Given the description of an element on the screen output the (x, y) to click on. 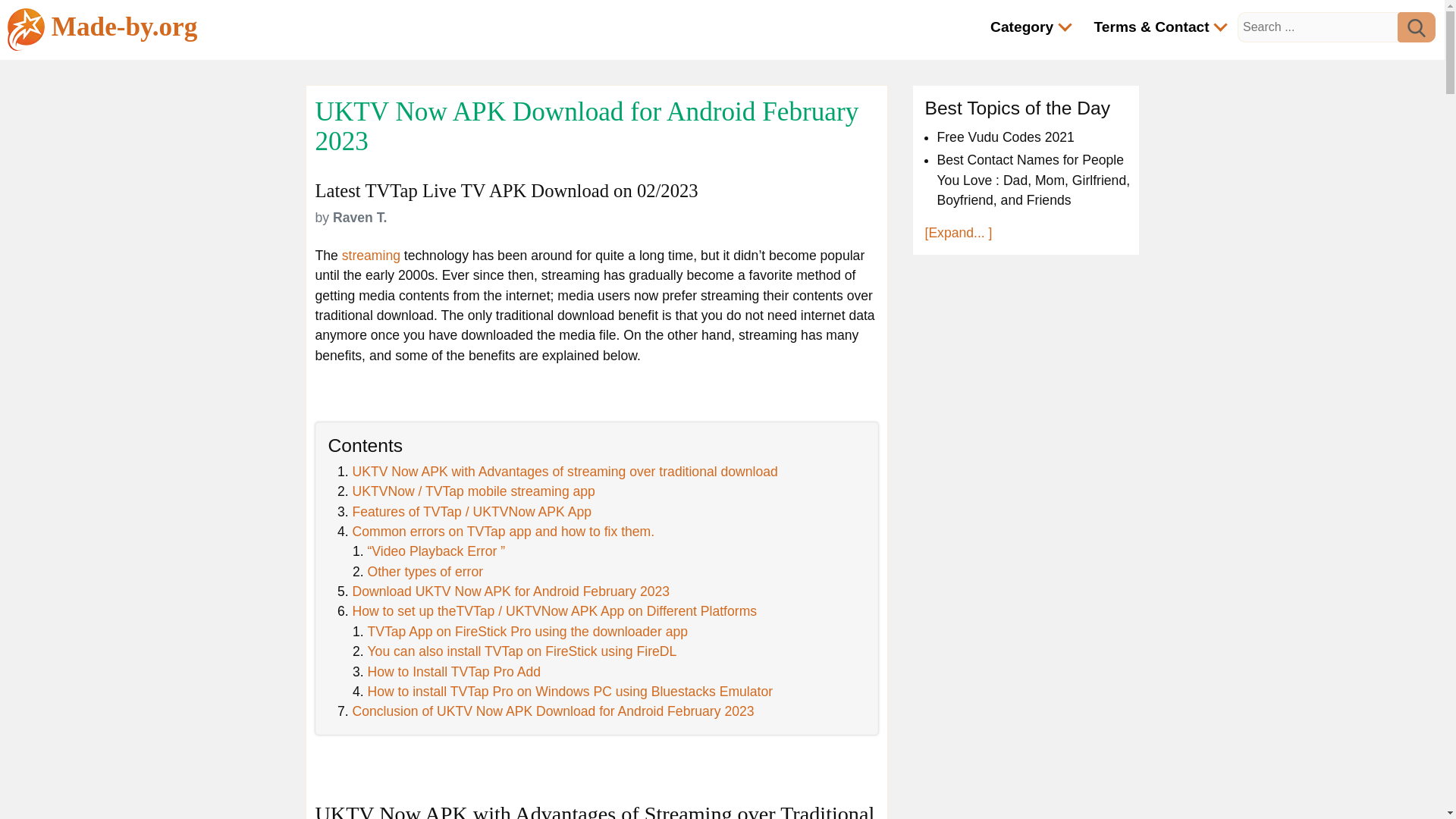
streaming (371, 255)
Free Vudu Codes 2021 (1005, 136)
Common errors on TVTap app and how to fix them. (502, 531)
You can also install TVTap on FireStick using FireDL (521, 651)
Other types of error (424, 571)
How to Install TVTap Pro Add (453, 671)
TVTap App on FireStick Pro using the downloader app (526, 631)
Download UKTV Now APK for Android February 2023 (510, 590)
Advertisement (1024, 773)
Made-by.org (101, 28)
